Given the description of an element on the screen output the (x, y) to click on. 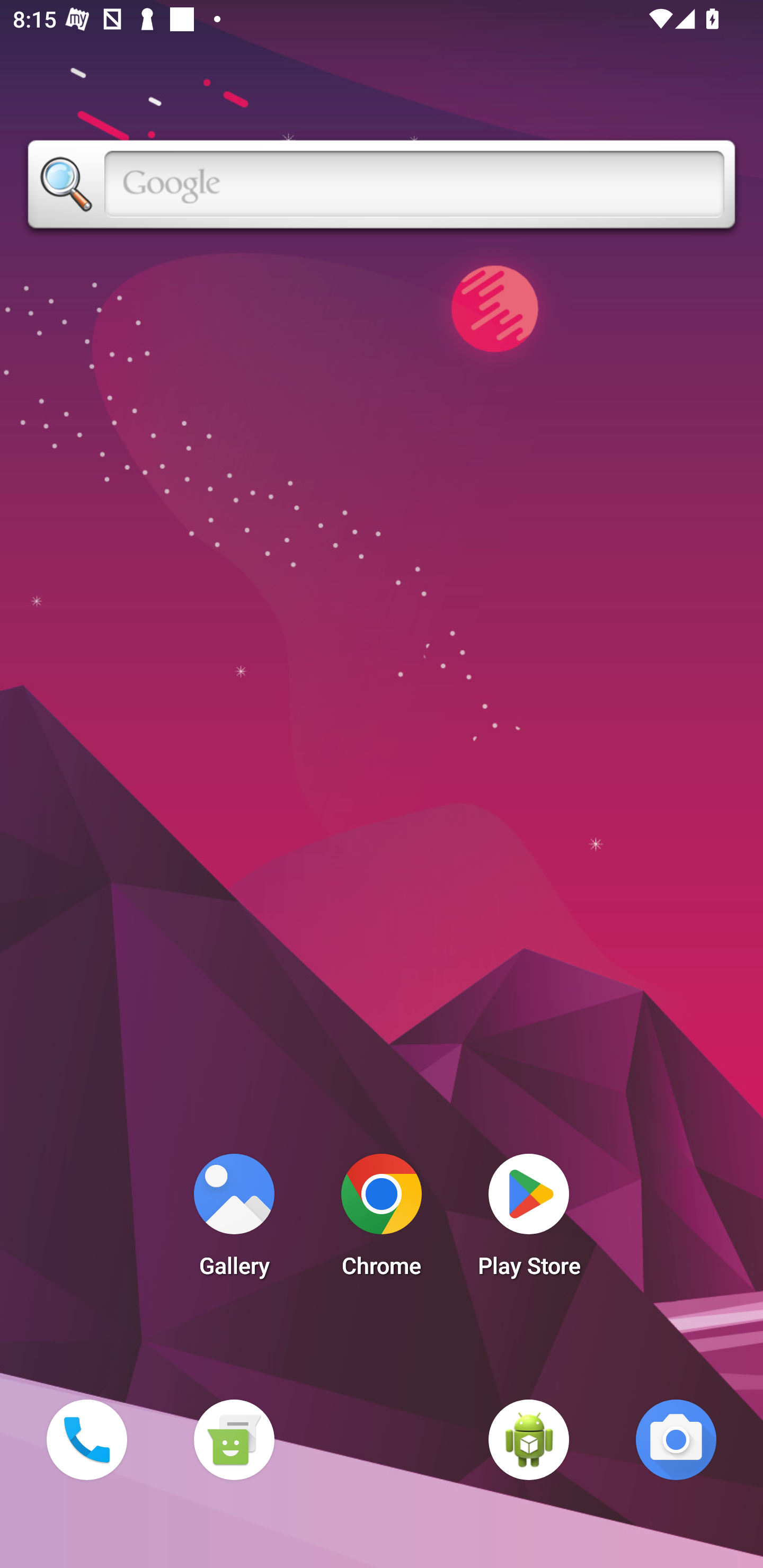
Gallery (233, 1220)
Chrome (381, 1220)
Play Store (528, 1220)
Phone (86, 1439)
Messaging (233, 1439)
WebView Browser Tester (528, 1439)
Camera (676, 1439)
